Given the description of an element on the screen output the (x, y) to click on. 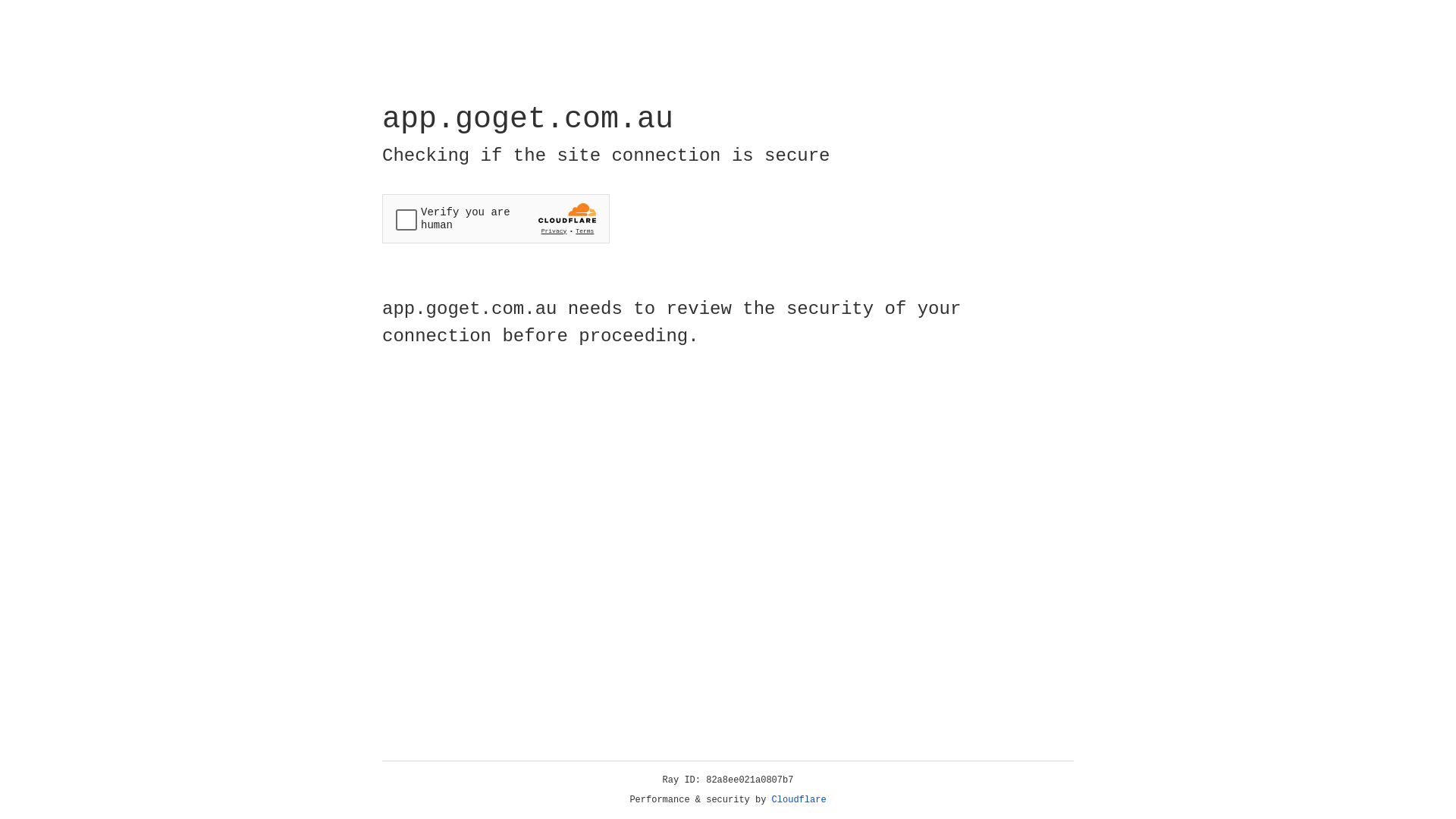
Widget containing a Cloudflare security challenge Element type: hover (495, 218)
Cloudflare Element type: text (798, 799)
